Given the description of an element on the screen output the (x, y) to click on. 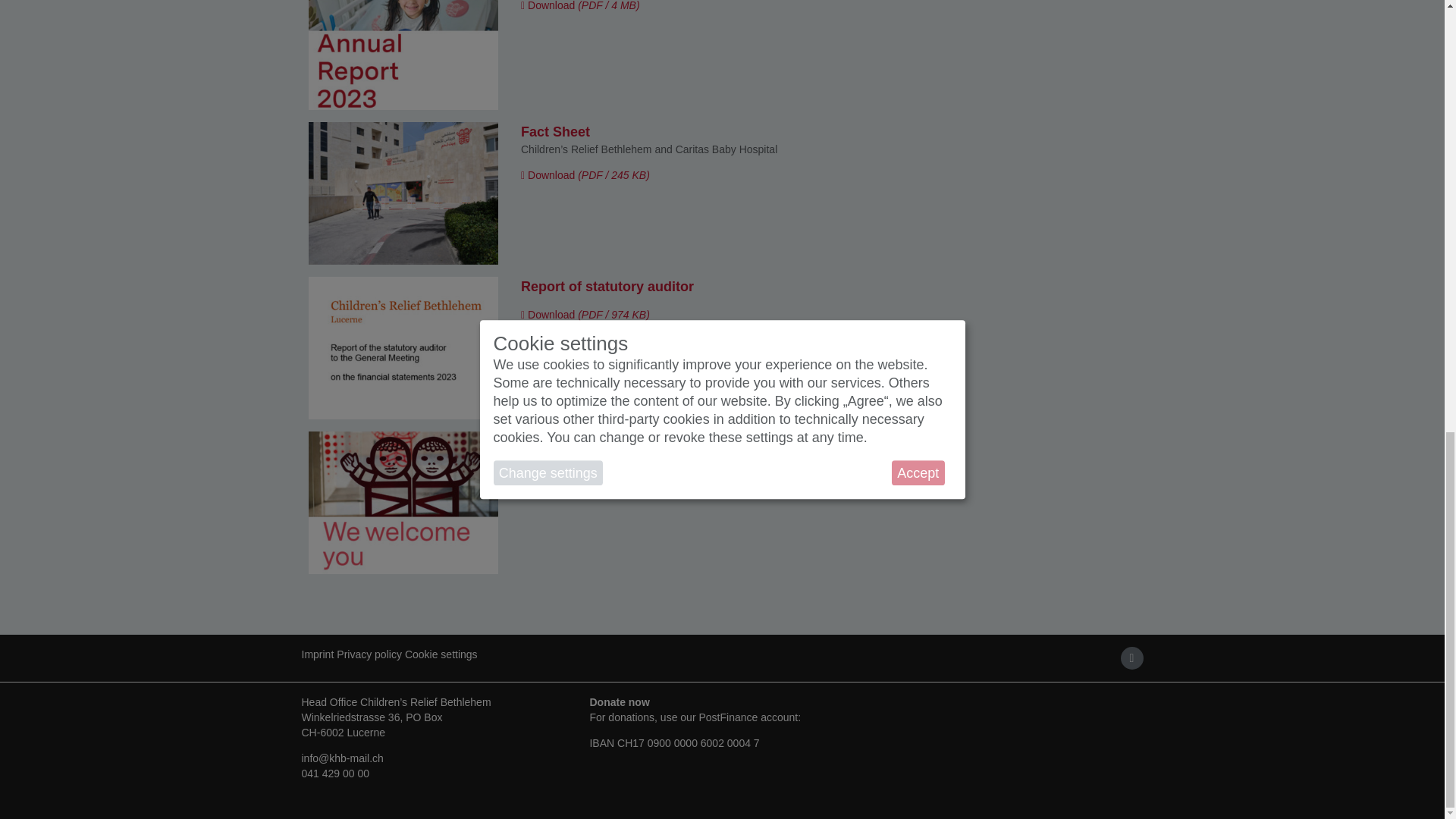
041 429 00 00 (335, 773)
Cookie settings (442, 653)
Privacy policy (370, 653)
Imprint (319, 653)
